Given the description of an element on the screen output the (x, y) to click on. 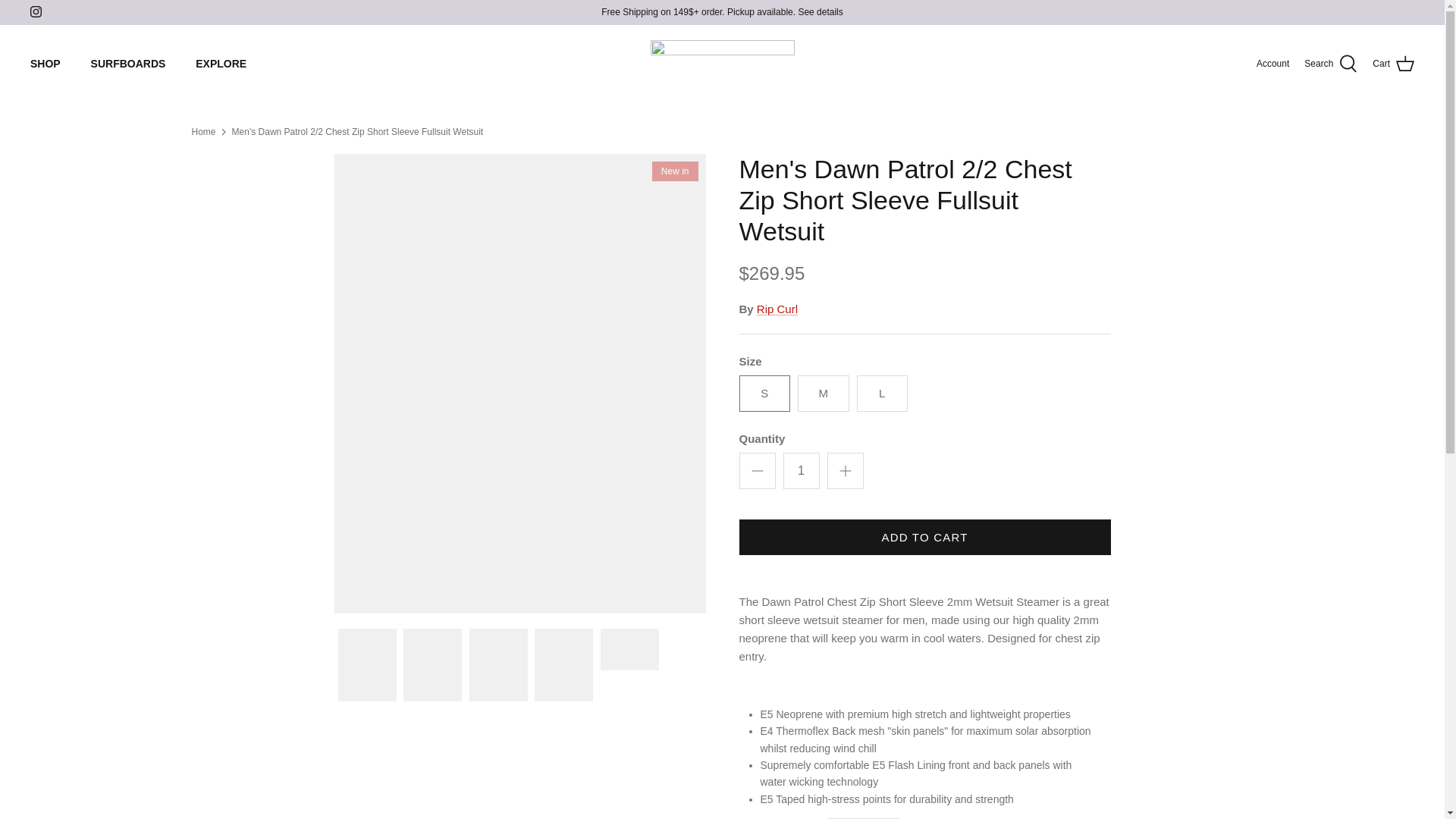
Plus (844, 470)
Account (1272, 63)
Cart (1393, 64)
SHOP (45, 63)
SURFBOARDS (128, 63)
EXPLORE (221, 63)
1 (800, 470)
Search (1330, 64)
Instagram (36, 11)
Instagram (36, 11)
Minus (756, 470)
